Given the description of an element on the screen output the (x, y) to click on. 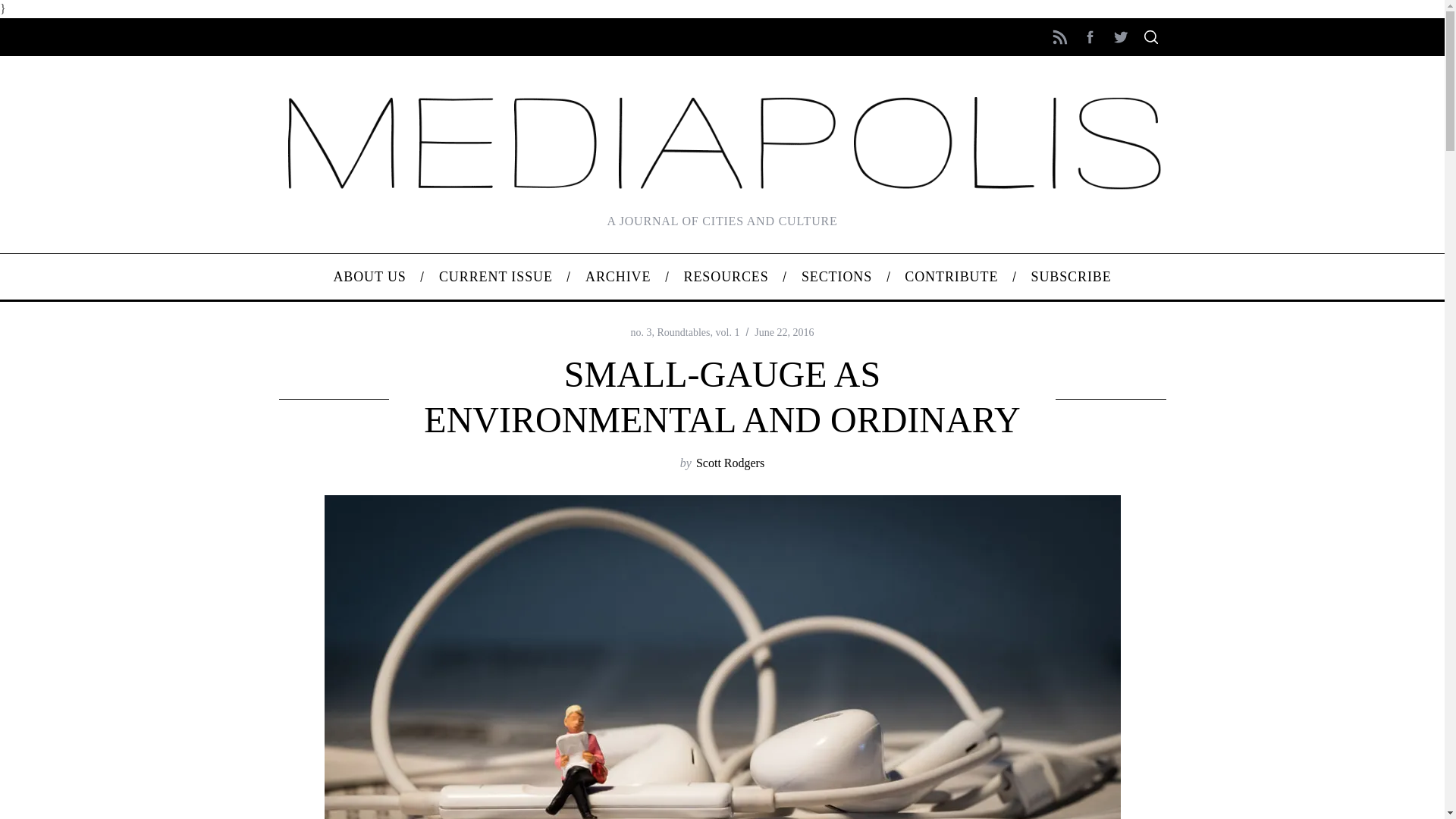
CURRENT ISSUE (495, 276)
Posts by Scott Rodgers (729, 462)
ARCHIVE (617, 276)
